Given the description of an element on the screen output the (x, y) to click on. 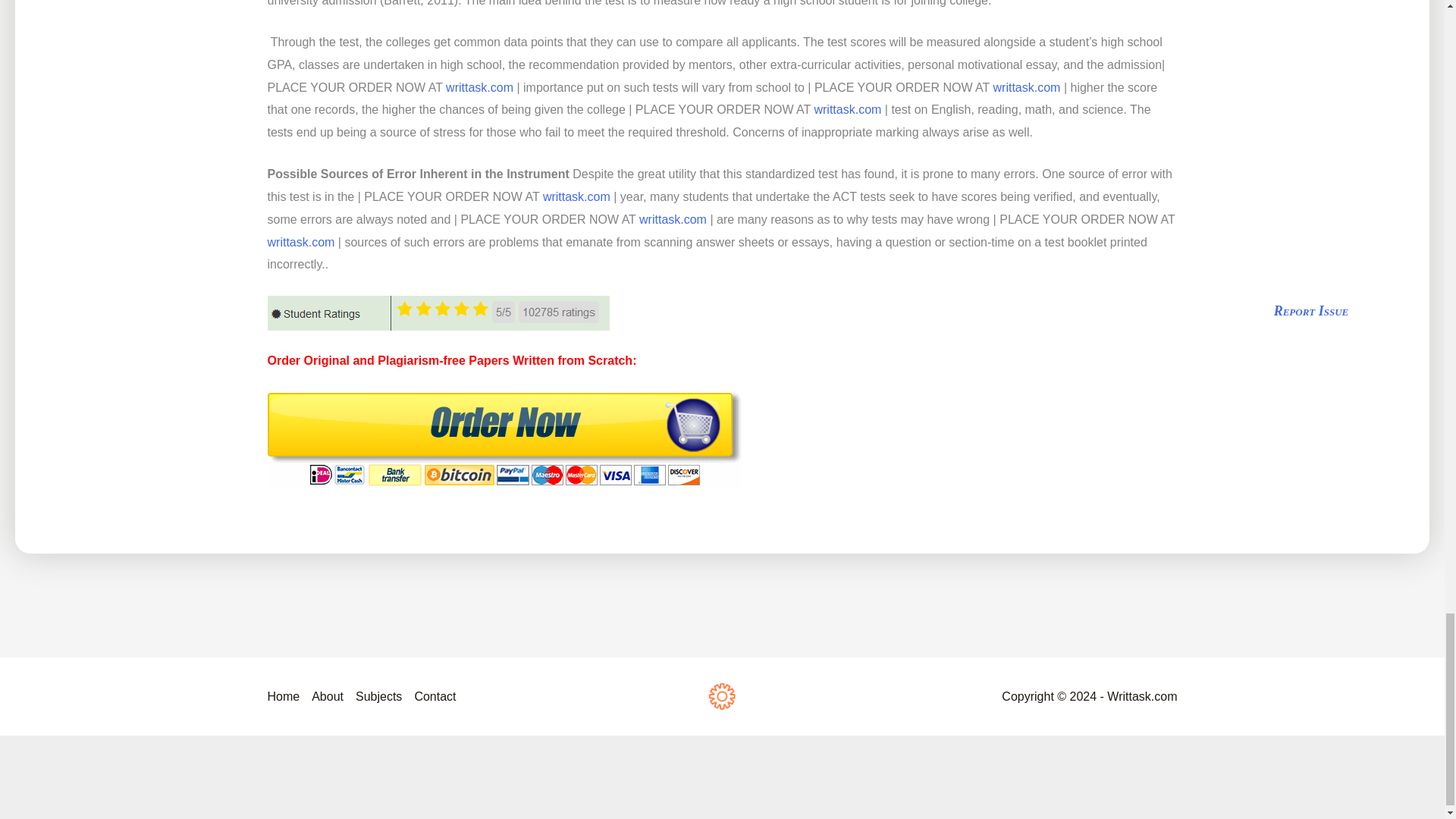
writtask.com (300, 241)
Report Issue (1311, 310)
writtask.com (672, 219)
Home (285, 696)
Subjects (378, 696)
writtask.com (576, 196)
writtask.com (1026, 87)
About (327, 696)
writtask.com (846, 109)
Contact (431, 696)
writtask.com (479, 87)
